Given the description of an element on the screen output the (x, y) to click on. 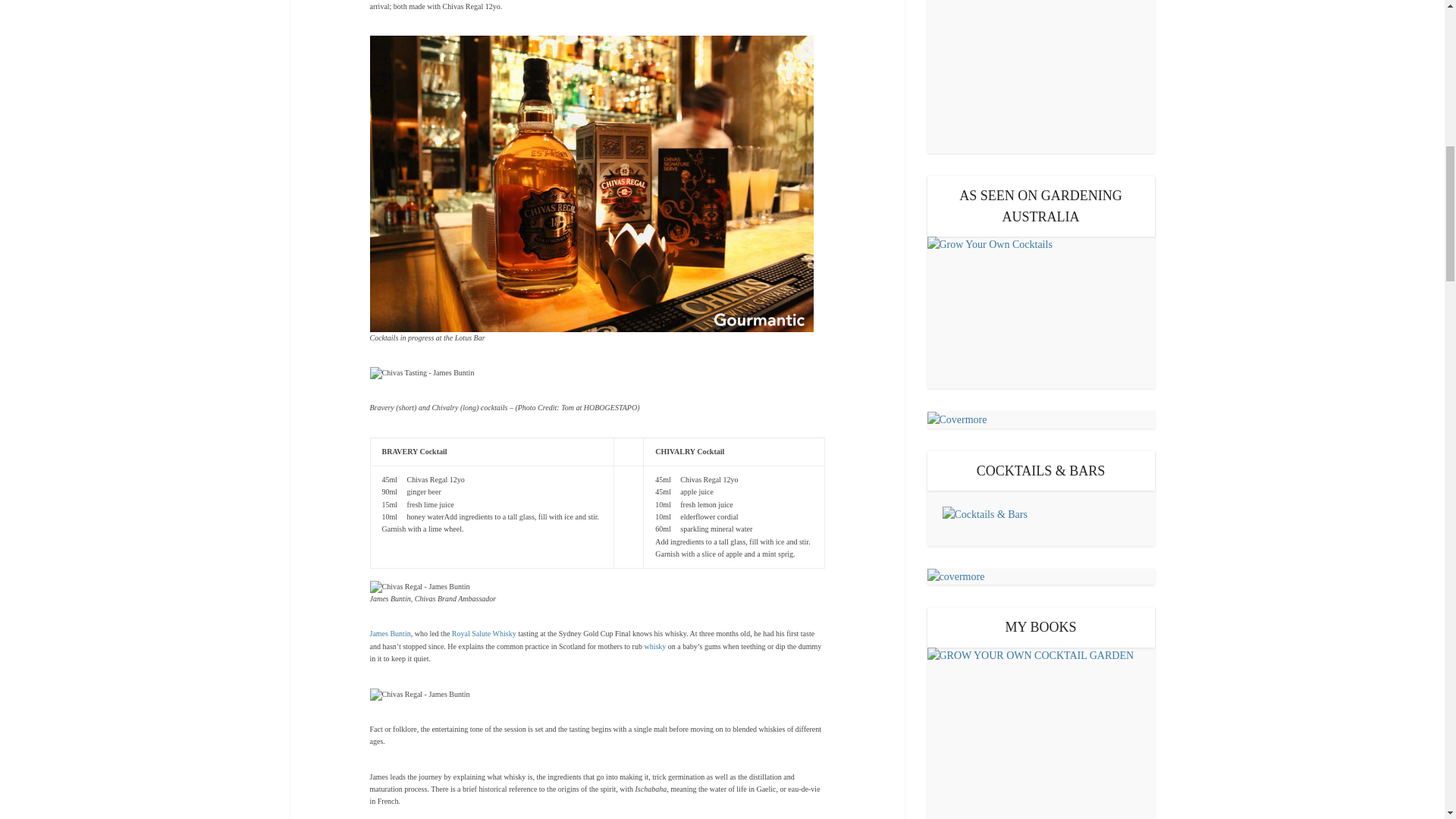
Chivas Tasting - James Buntin (421, 372)
Chivas Regal - James Buntin (591, 183)
Chivas Regal - James Buntin (419, 694)
Chivas Regal - James Buntin (419, 586)
